Given the description of an element on the screen output the (x, y) to click on. 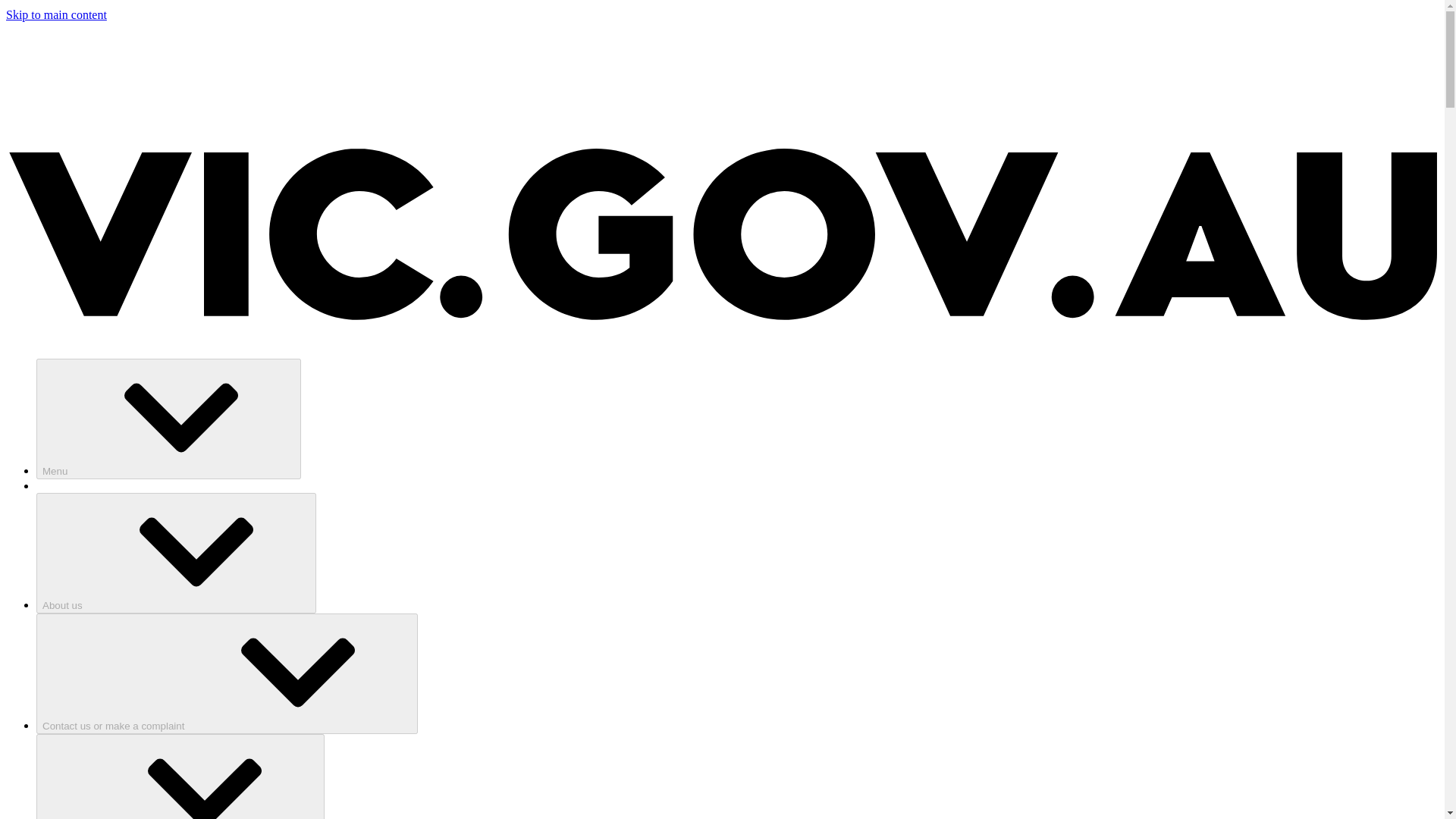
Skip to main content (55, 14)
